Given the description of an element on the screen output the (x, y) to click on. 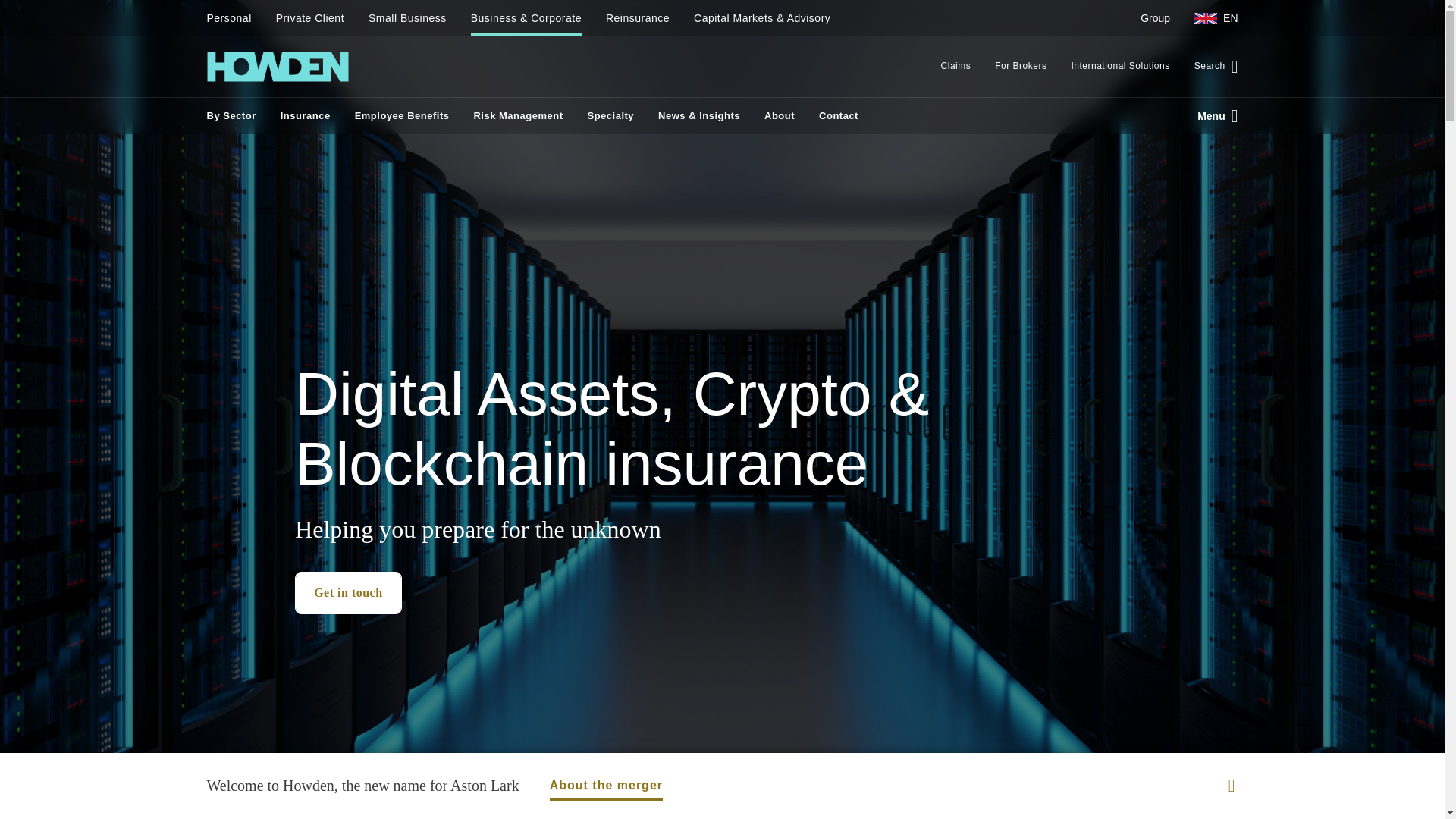
Small Business (407, 18)
Howden Broking Group (276, 66)
EN (1209, 18)
Menu (1211, 115)
Personal (234, 18)
Reinsurance (637, 18)
Private Client (309, 18)
Search (1210, 66)
International Solutions (1119, 66)
For Brokers (1020, 66)
